Given the description of an element on the screen output the (x, y) to click on. 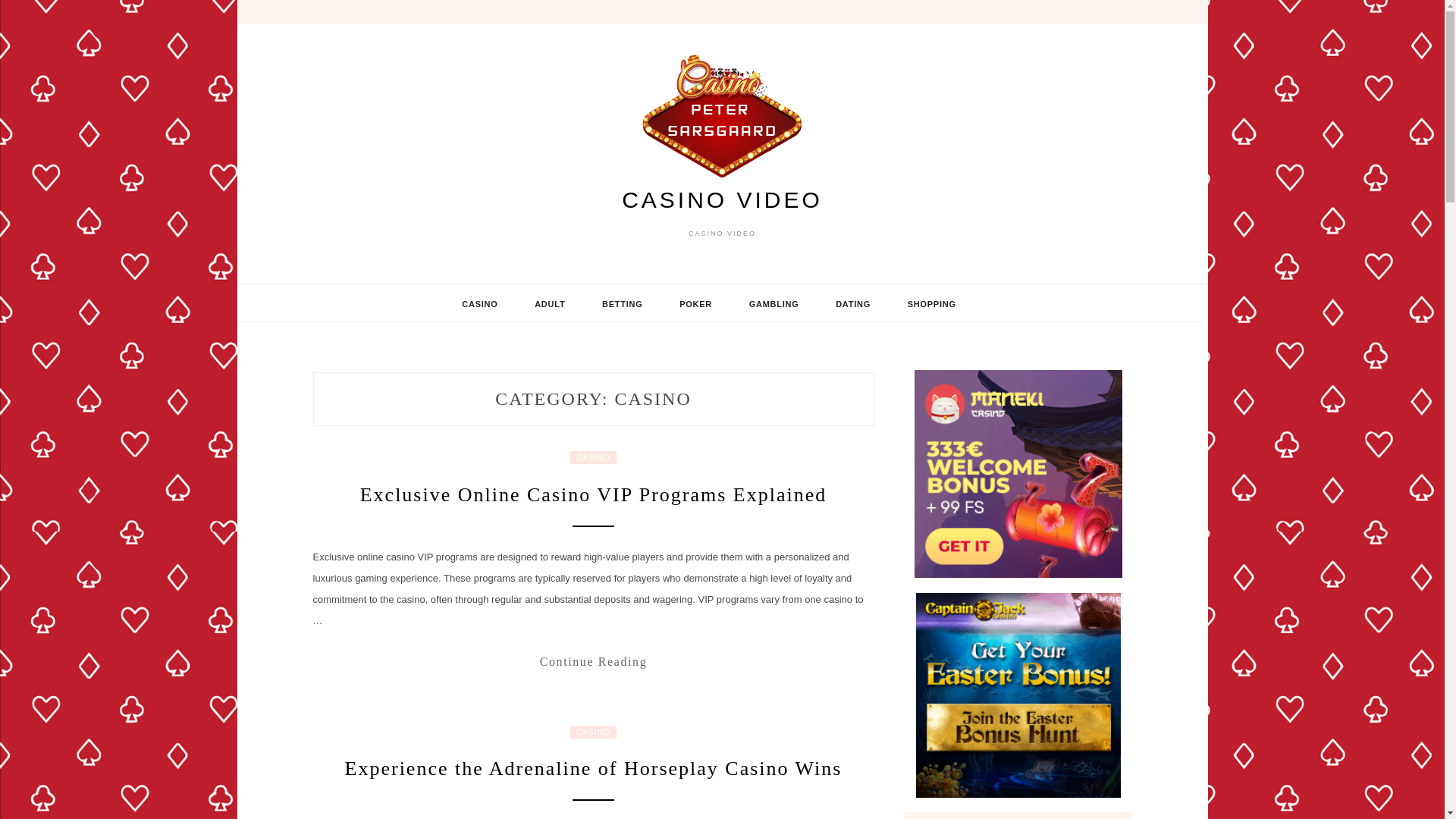
DATING (853, 303)
CASINO (479, 303)
SHOPPING (931, 303)
CASINO (592, 457)
POKER (695, 303)
Exclusive Online Casino VIP Programs Explained (593, 495)
CASINO VIDEO (721, 199)
BETTING (622, 303)
Exclusive Online Casino VIP Programs Explained (593, 661)
ADULT (550, 303)
CASINO (592, 731)
Continue Reading (593, 661)
Experience the Adrenaline of Horseplay Casino Wins (594, 768)
GAMBLING (774, 303)
